Given the description of an element on the screen output the (x, y) to click on. 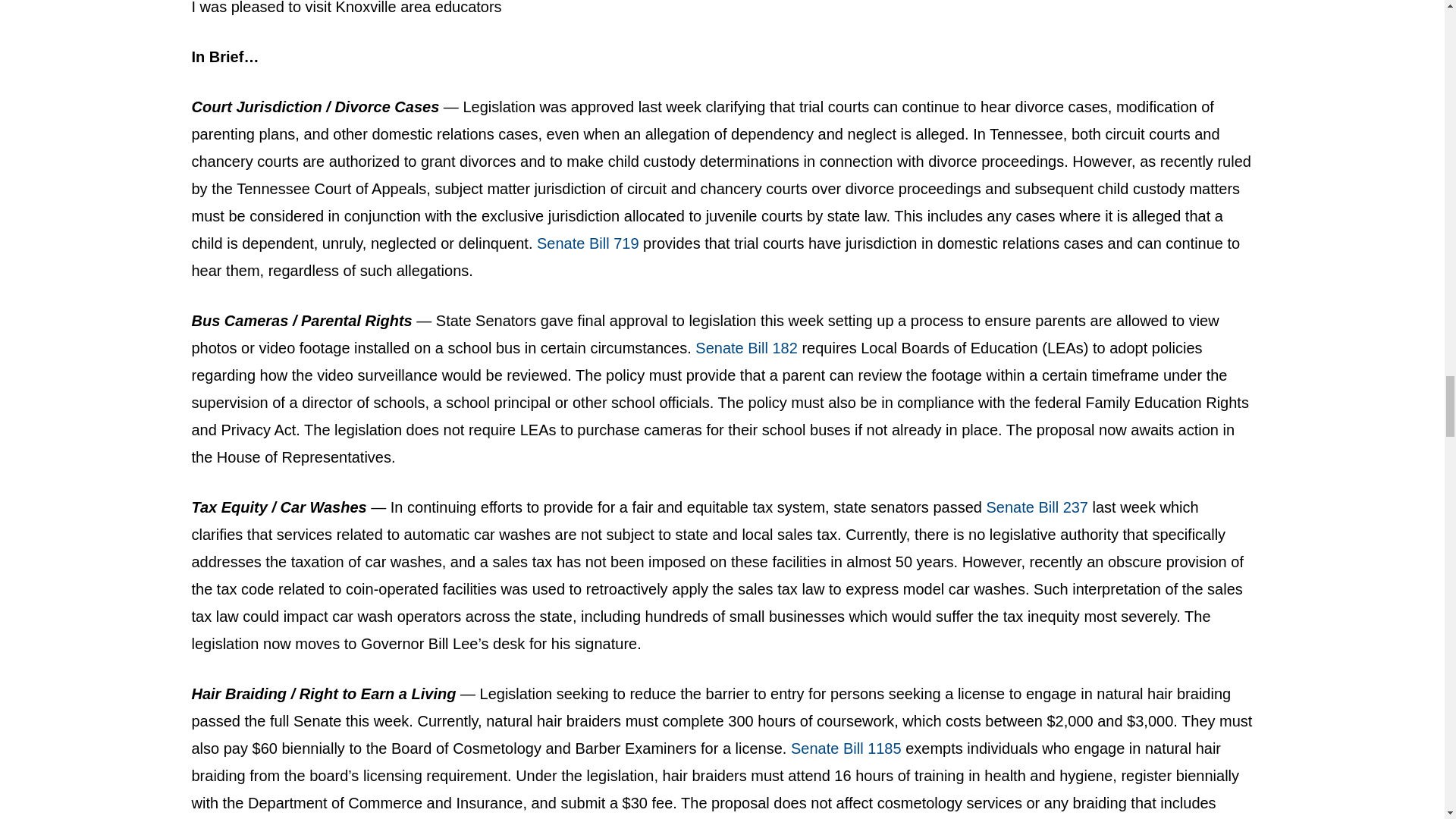
Senate Bill 1185 (845, 748)
Senate Bill 719 (588, 243)
Senate Bill 237 (1036, 506)
Senate Bill 182 (746, 347)
